Given the description of an element on the screen output the (x, y) to click on. 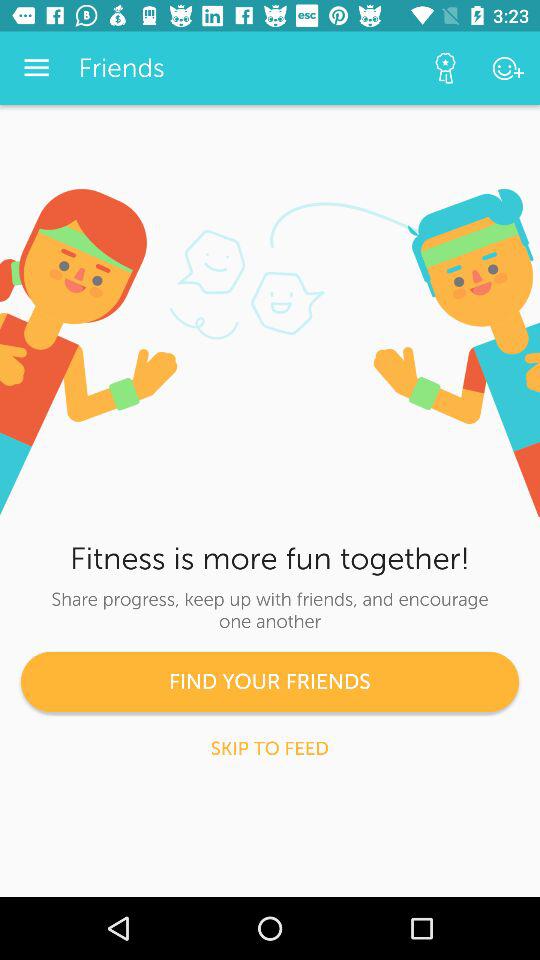
turn on the icon next to friends item (444, 67)
